Given the description of an element on the screen output the (x, y) to click on. 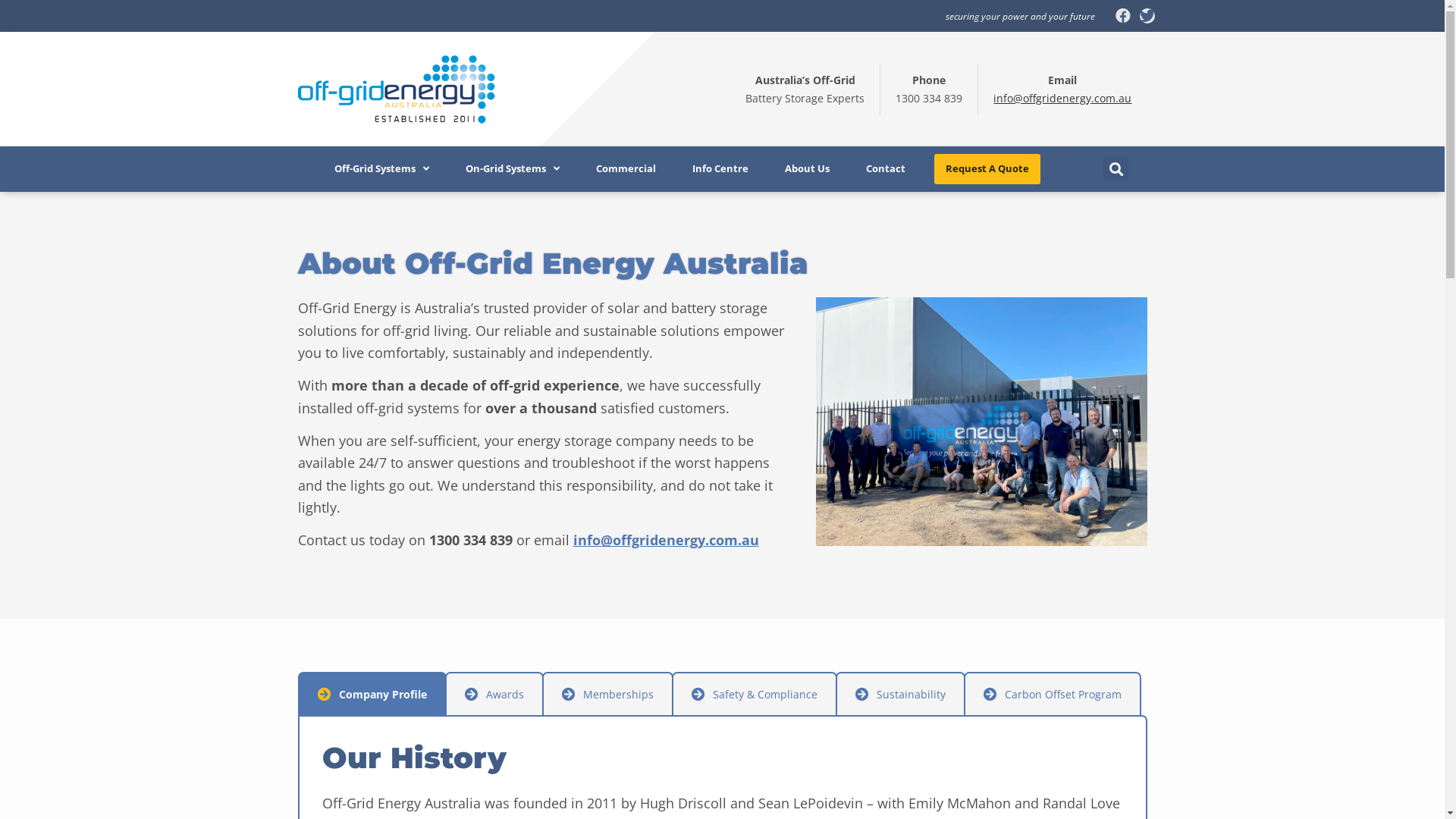
Request A Quote Element type: text (987, 168)
Commercial Element type: text (625, 168)
About Us Element type: text (807, 168)
Contact Element type: text (885, 168)
Off-Grid Systems Element type: text (381, 168)
On-Grid Systems Element type: text (512, 168)
Info Centre Element type: text (720, 168)
info@offgridenergy.com.au Element type: text (666, 539)
info@offgridenergy.com.au Element type: text (1062, 98)
